Given the description of an element on the screen output the (x, y) to click on. 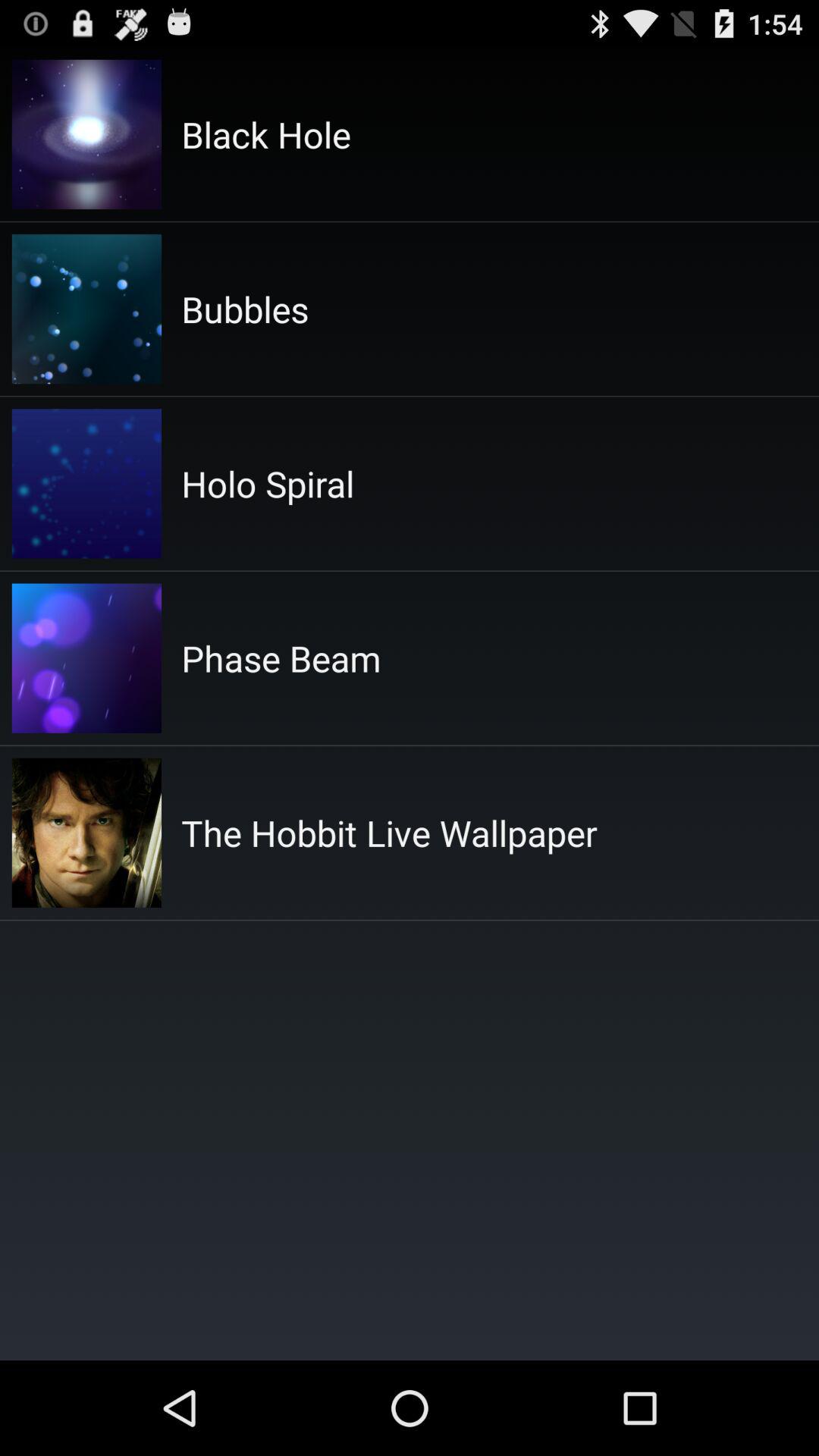
turn off the the hobbit live (389, 832)
